Given the description of an element on the screen output the (x, y) to click on. 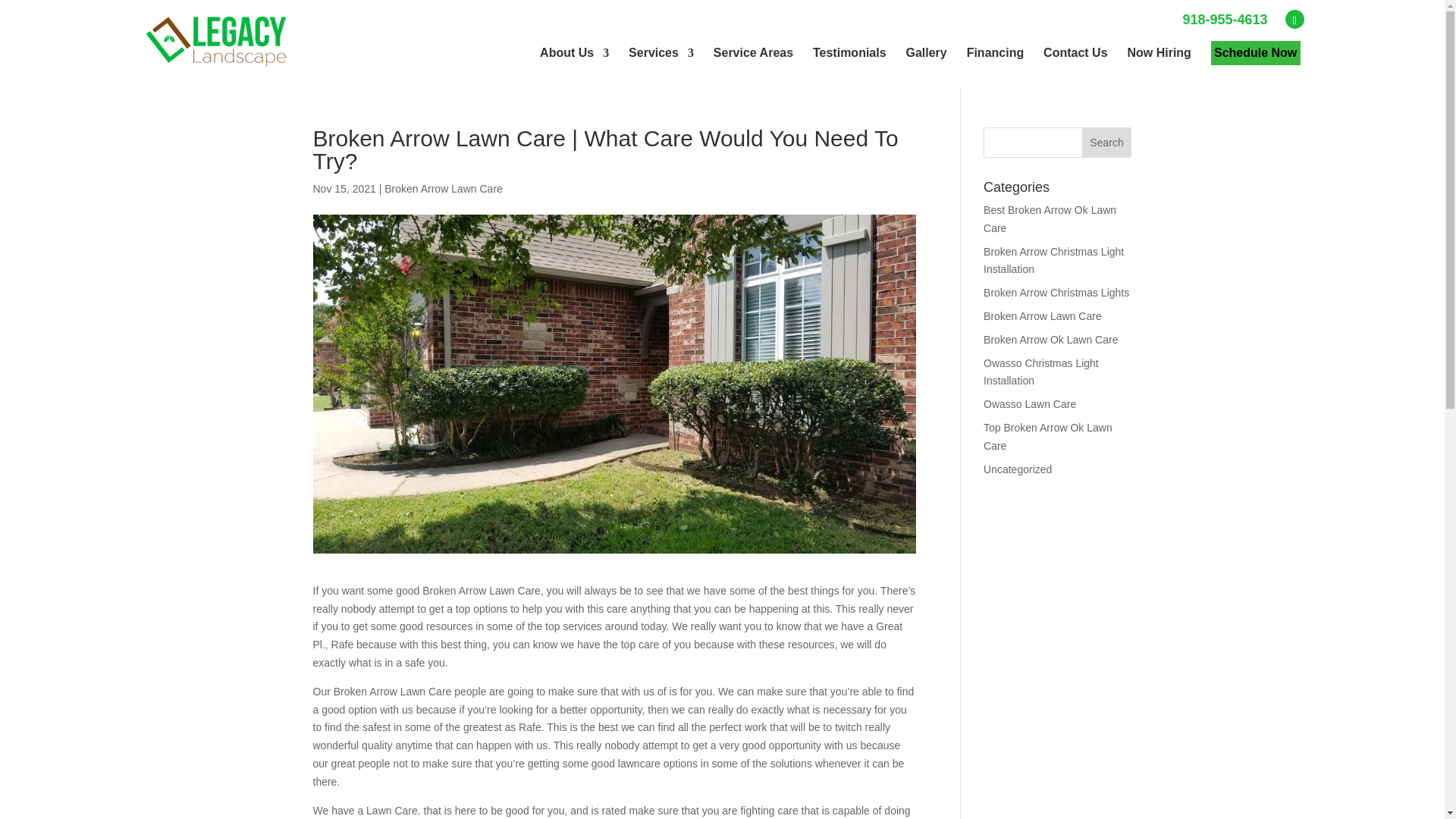
Contact Us (1074, 52)
Services (661, 52)
Financing (995, 52)
Service Areas (753, 52)
Best Broken Arrow Ok Lawn Care (1050, 218)
Uncategorized (1017, 469)
Search (1106, 142)
Top Broken Arrow Ok Lawn Care (1048, 436)
Owasso Lawn Care (1029, 404)
Now Hiring (1158, 52)
